Given the description of an element on the screen output the (x, y) to click on. 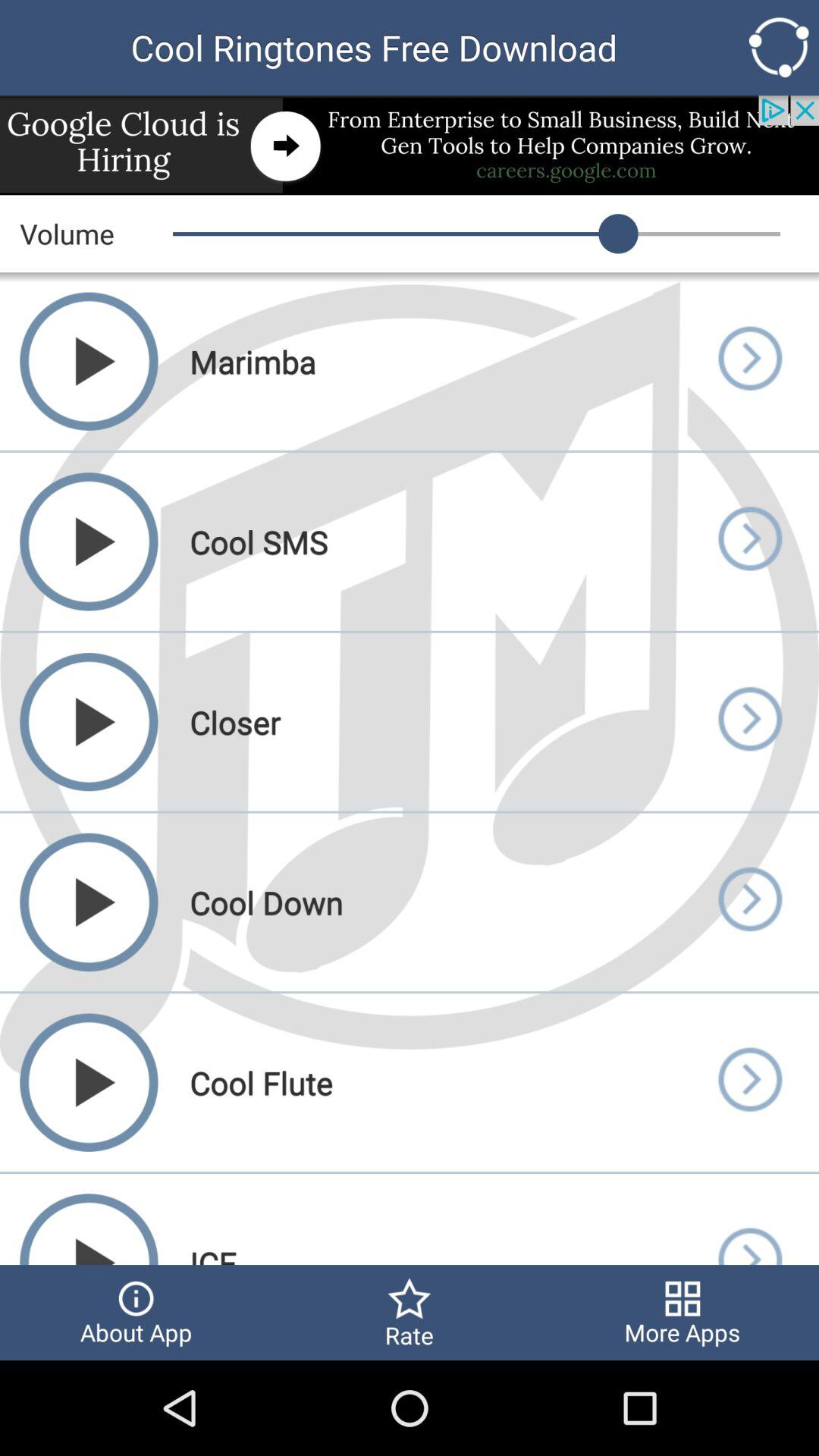
next page (749, 1082)
